Given the description of an element on the screen output the (x, y) to click on. 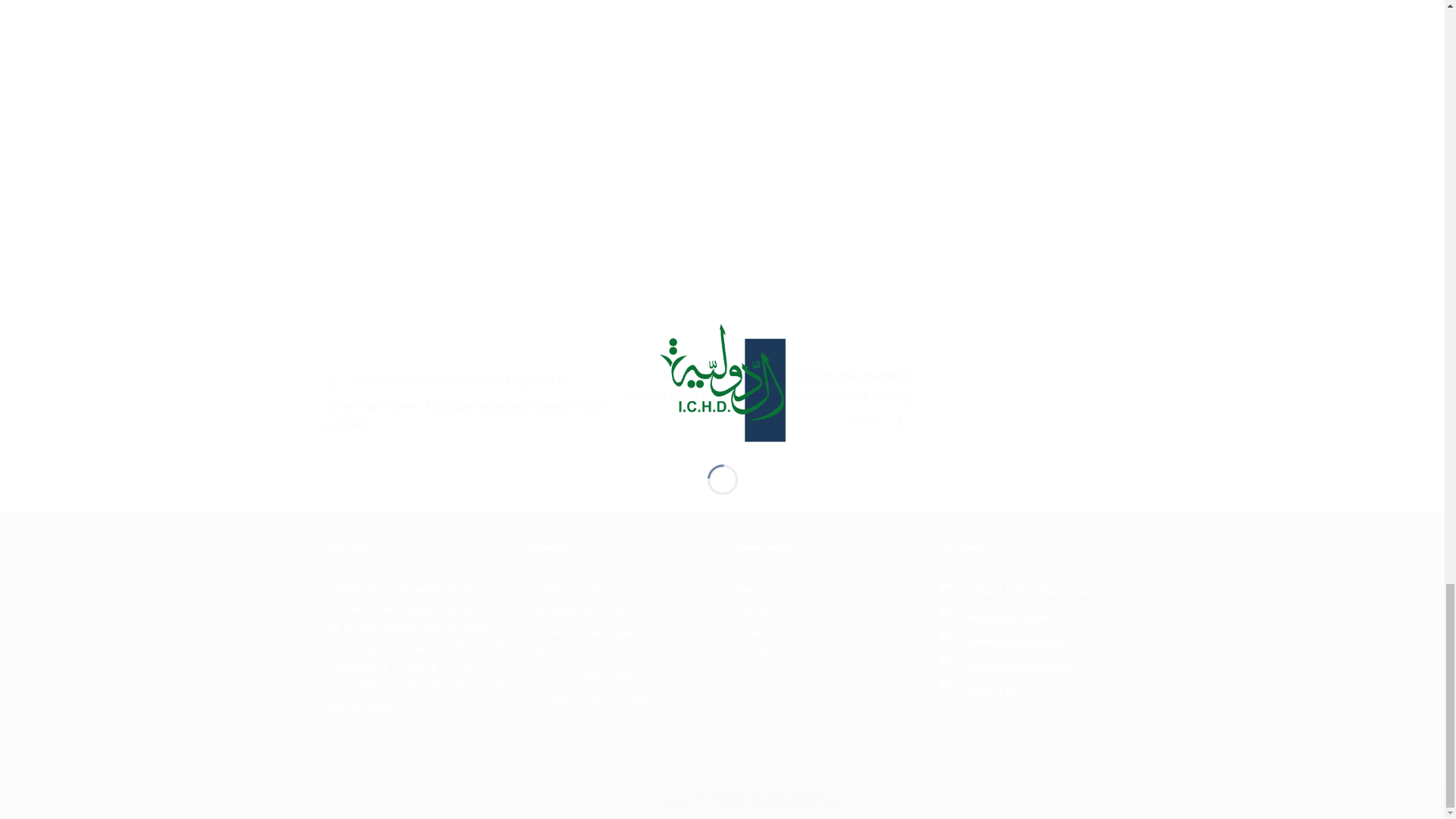
Pin on Pinterest (630, 217)
Follow on Twitter (364, 741)
Send us an email (392, 741)
Follow on Facebook (337, 741)
Share on Twitter (576, 217)
Share on Facebook (549, 217)
Email to a Friend (603, 217)
Share on LinkedIn (685, 217)
